Given the description of an element on the screen output the (x, y) to click on. 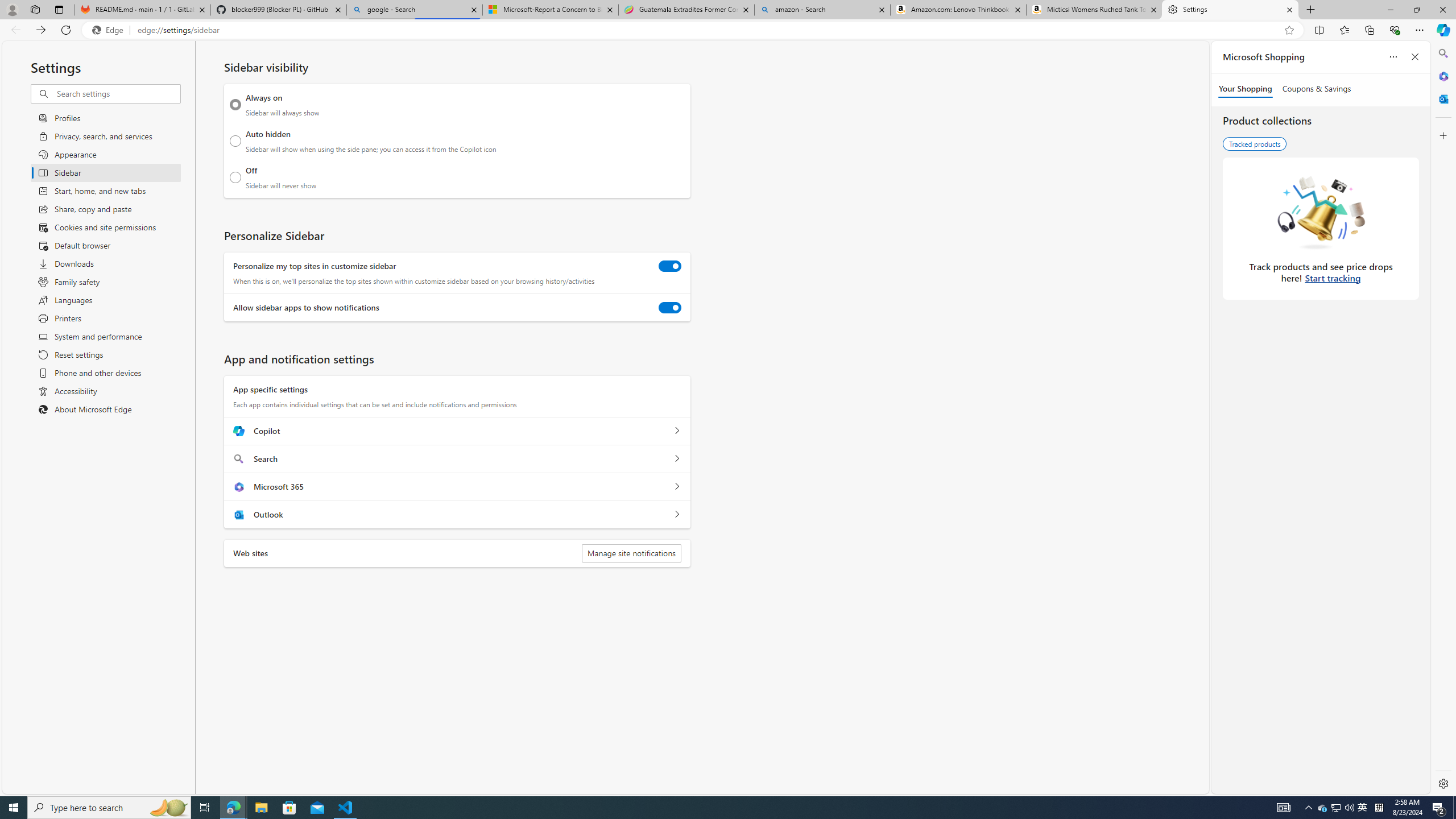
Manage site notifications (630, 553)
Search settings (117, 93)
